Given the description of an element on the screen output the (x, y) to click on. 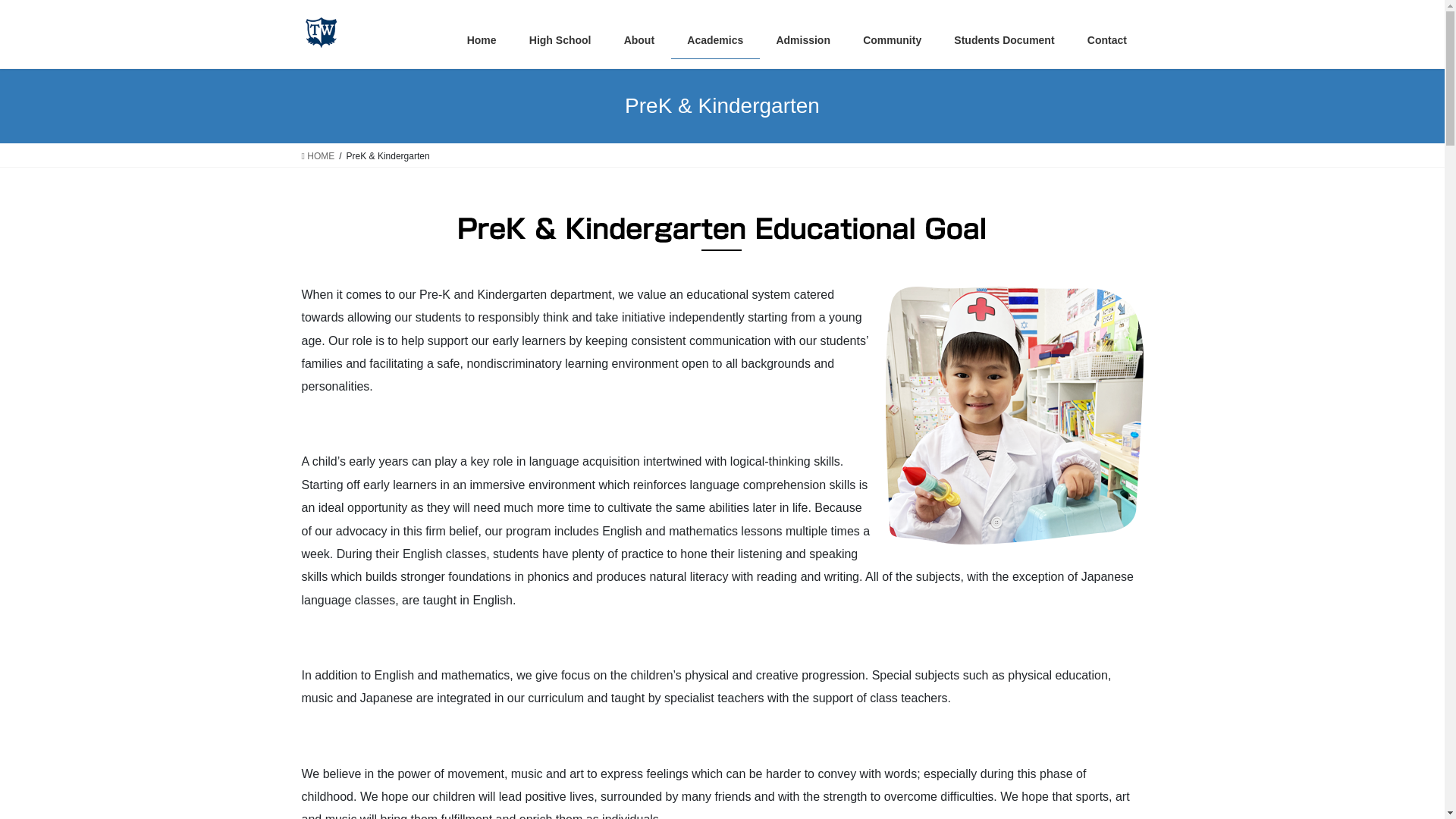
JPN (1113, 18)
Home (480, 40)
Community (892, 40)
About (639, 40)
High School (559, 40)
Students Document (1003, 40)
Admission (803, 40)
Academics (715, 40)
Contact (1106, 40)
